Given the description of an element on the screen output the (x, y) to click on. 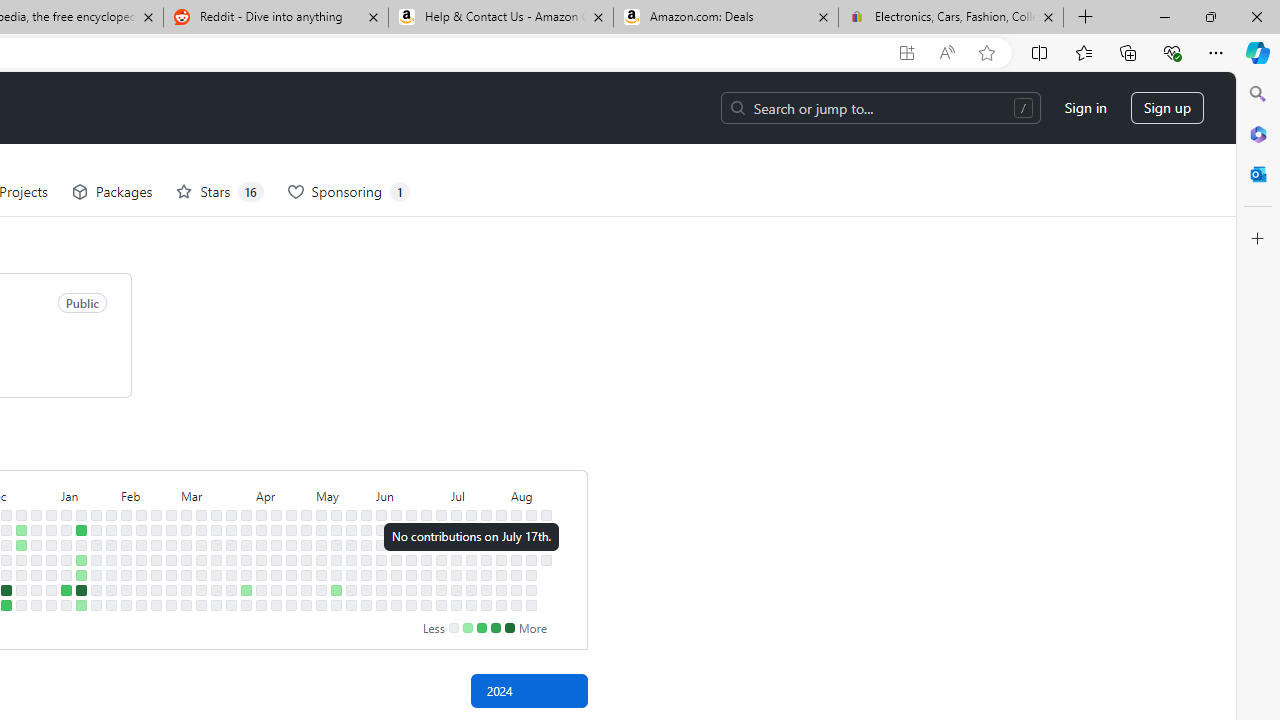
No contributions on January 11th. (66, 574)
No contributions on January 23rd. (96, 544)
1 contribution on May 17th. (336, 589)
No contributions on July 21st. (486, 515)
No contributions on March 22nd. (216, 589)
No contributions on August 20th. (546, 544)
2 contributions on January 15th. (81, 529)
No contributions on April 19th. (276, 589)
No contributions on August 1st. (501, 574)
No contributions on February 11th. (141, 515)
No contributions on February 9th. (126, 589)
No contributions on January 9th. (66, 544)
No contributions on March 12th. (201, 544)
No contributions on May 5th. (321, 515)
